Given the description of an element on the screen output the (x, y) to click on. 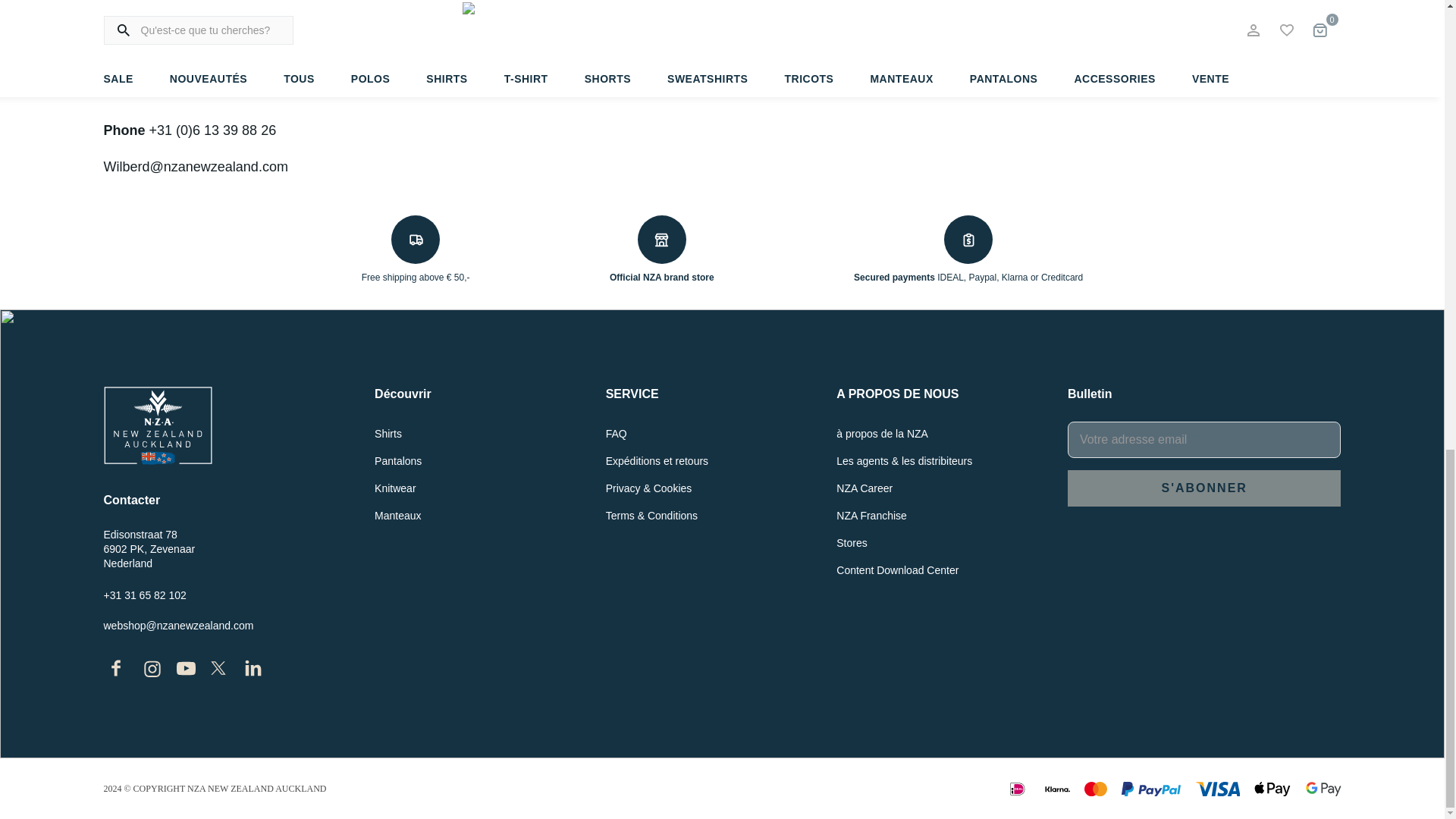
Twitter (218, 674)
Facebook (115, 676)
YouTube (185, 674)
LinkedIn (252, 676)
Instagram (151, 676)
